Given the description of an element on the screen output the (x, y) to click on. 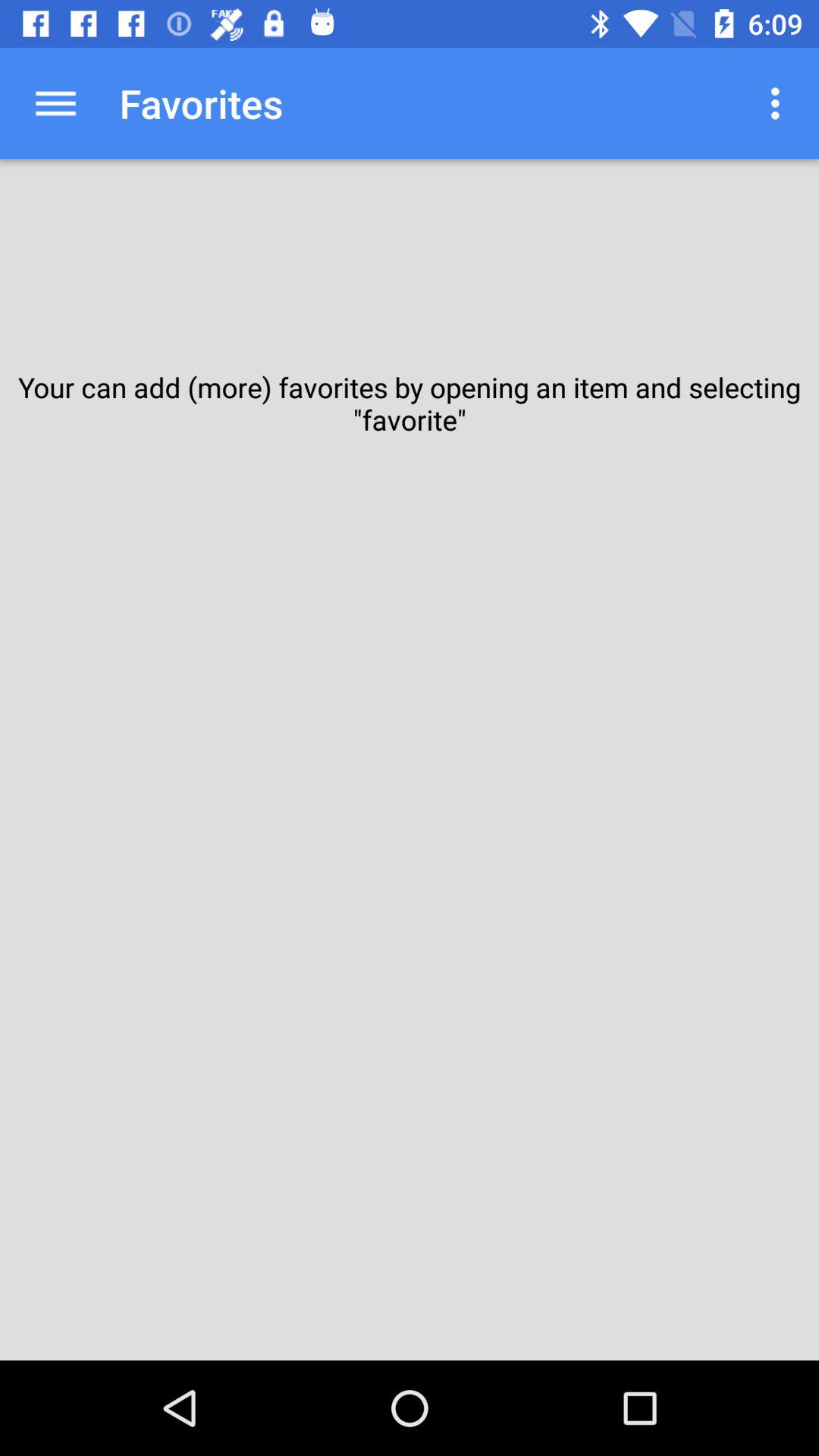
tap the icon to the left of favorites icon (55, 103)
